Given the description of an element on the screen output the (x, y) to click on. 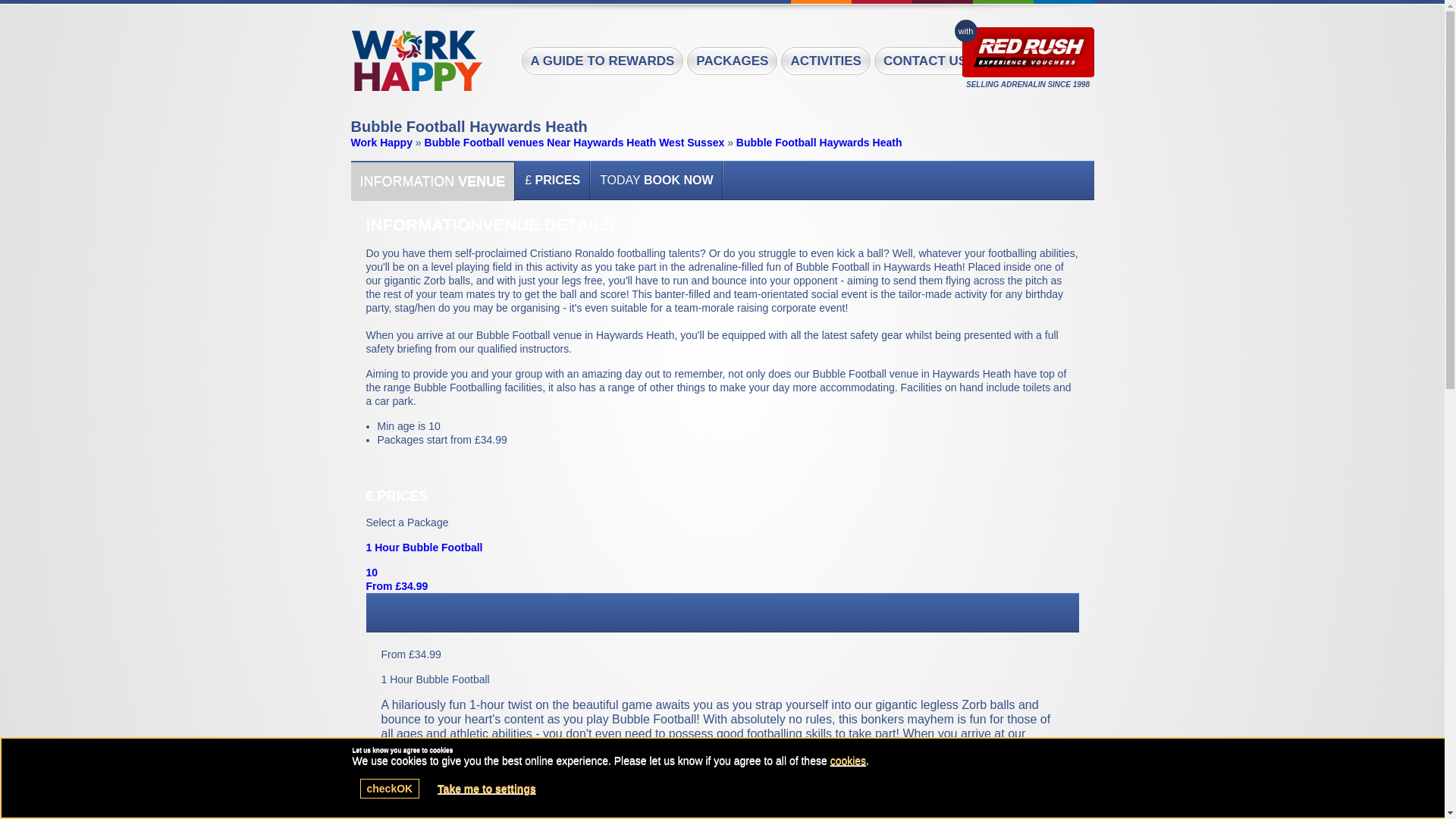
TODAY BOOK NOW (656, 180)
CONTACT US (925, 60)
cookies (847, 760)
INFORMATION VENUE (432, 180)
Bubble Football Haywards Heath (415, 61)
ACTIVITIES (825, 60)
A GUIDE TO REWARDS (602, 60)
PACKAGES (732, 60)
Bubble Football Haywards Heath (819, 142)
Take me to settings (486, 788)
